Given the description of an element on the screen output the (x, y) to click on. 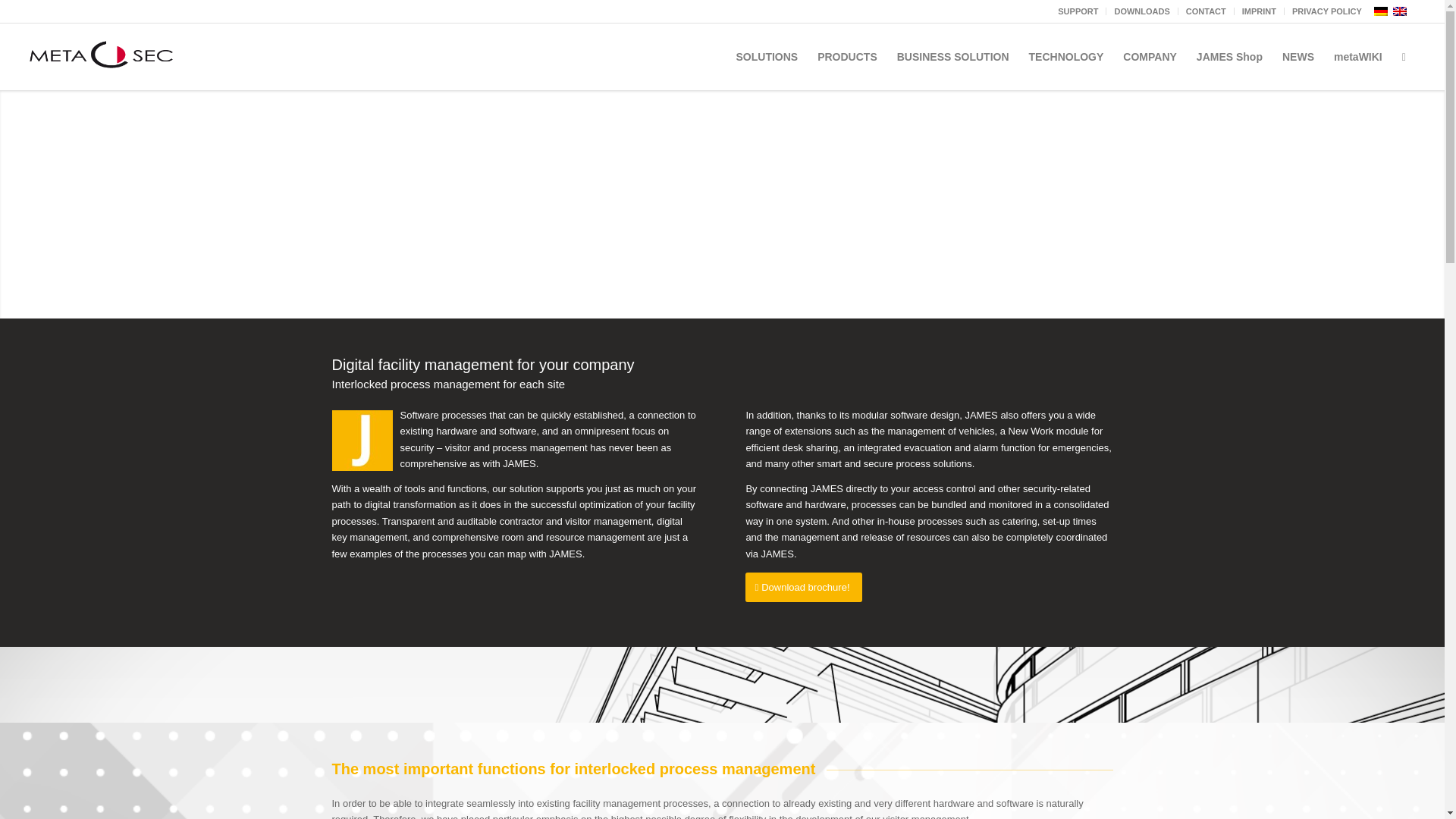
SUPPORT (1077, 11)
DOWNLOADS (1141, 11)
English (1399, 10)
CONTACT (1205, 11)
Deutsch (1381, 10)
logo (101, 56)
SOLUTIONS (767, 56)
IMPRINT (1258, 11)
BUSINESS SOLUTION (952, 56)
PRODUCTS (847, 56)
